Given the description of an element on the screen output the (x, y) to click on. 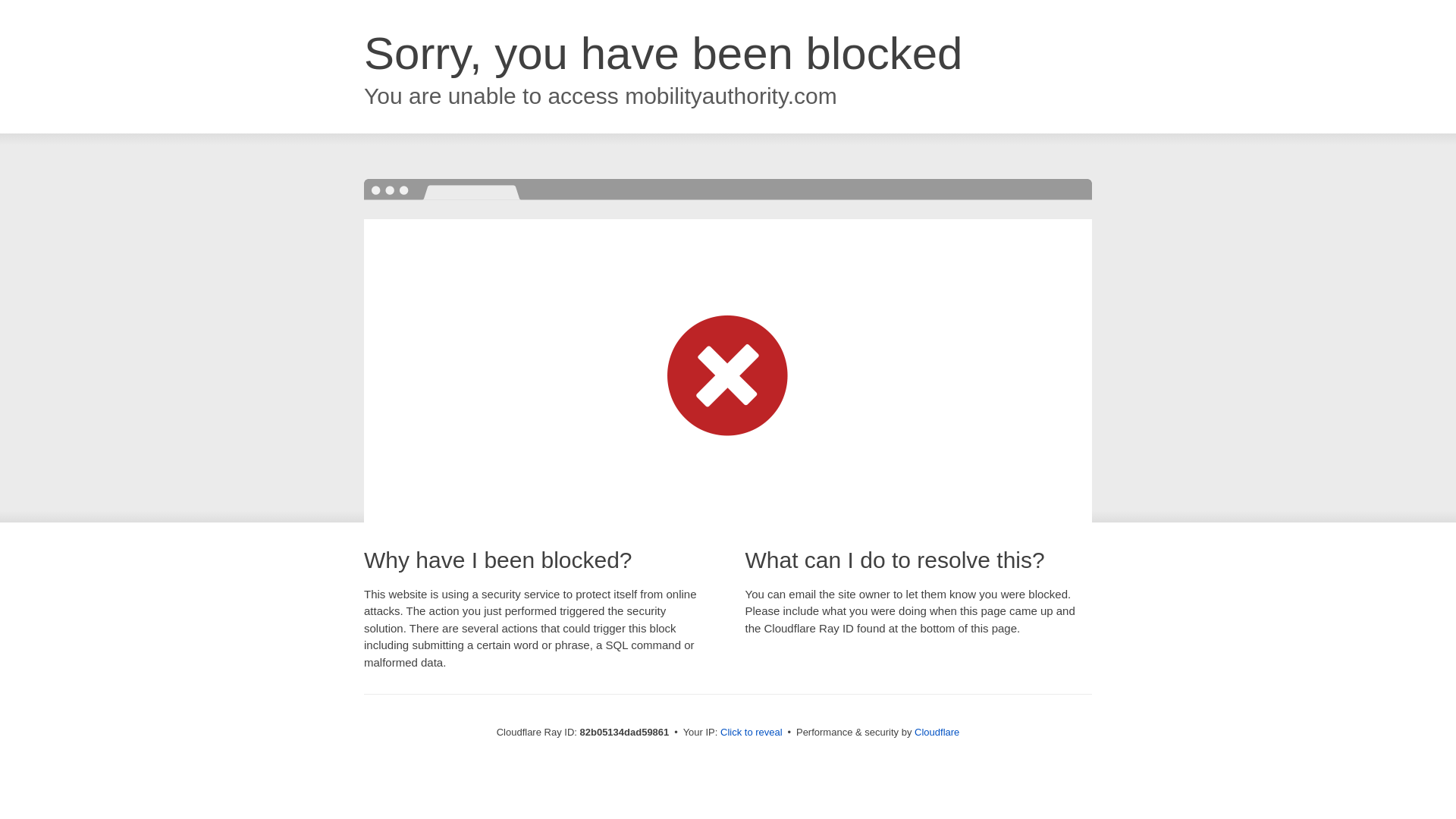
Click to reveal Element type: text (751, 732)
Cloudflare Element type: text (936, 731)
